Given the description of an element on the screen output the (x, y) to click on. 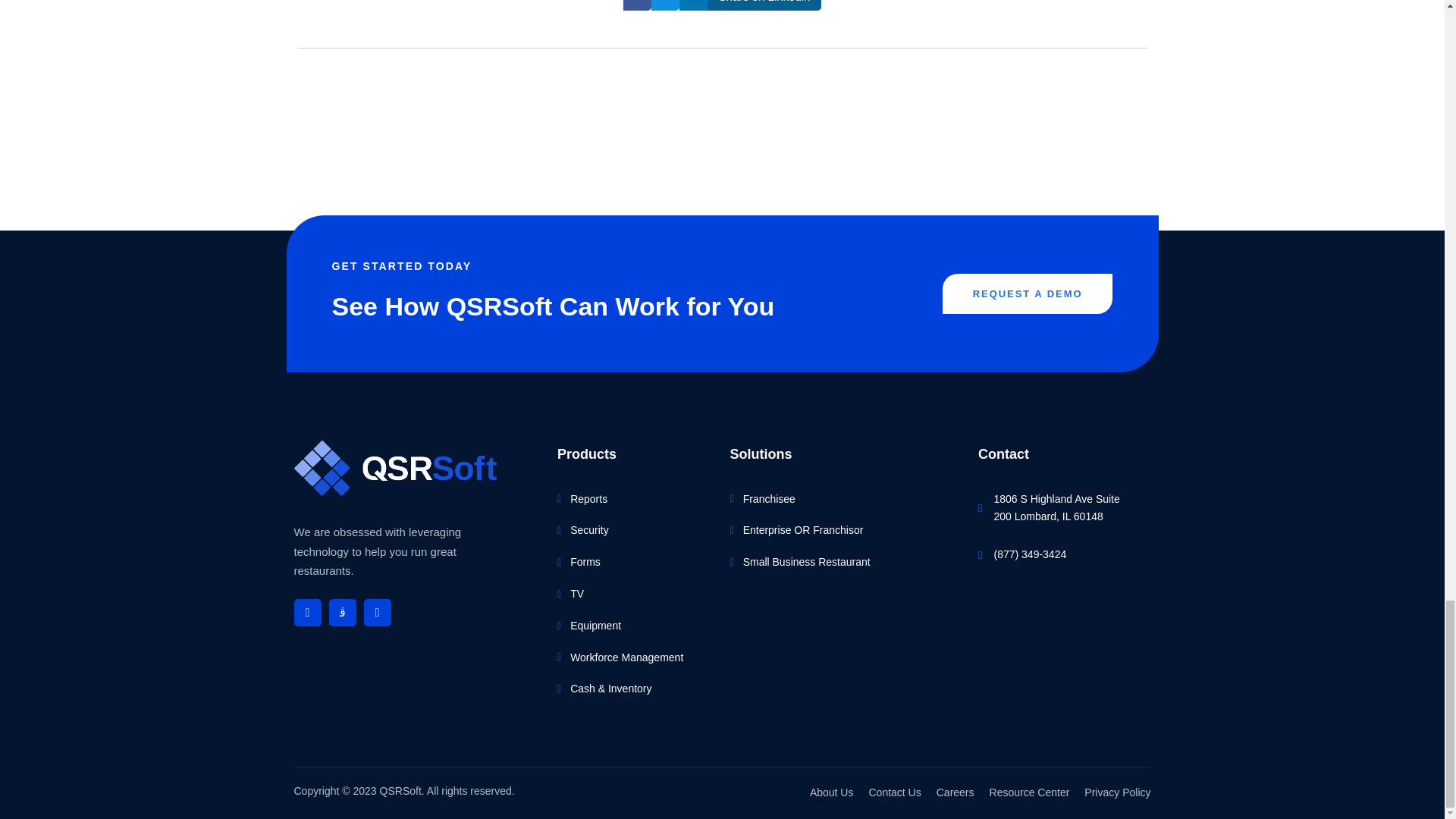
Reports (635, 499)
Workforce Management (635, 658)
Share on Linkedin (750, 5)
Forms (635, 562)
Security (635, 530)
TV (635, 594)
Equipment (635, 626)
REQUEST A DEMO (1027, 293)
